Given the description of an element on the screen output the (x, y) to click on. 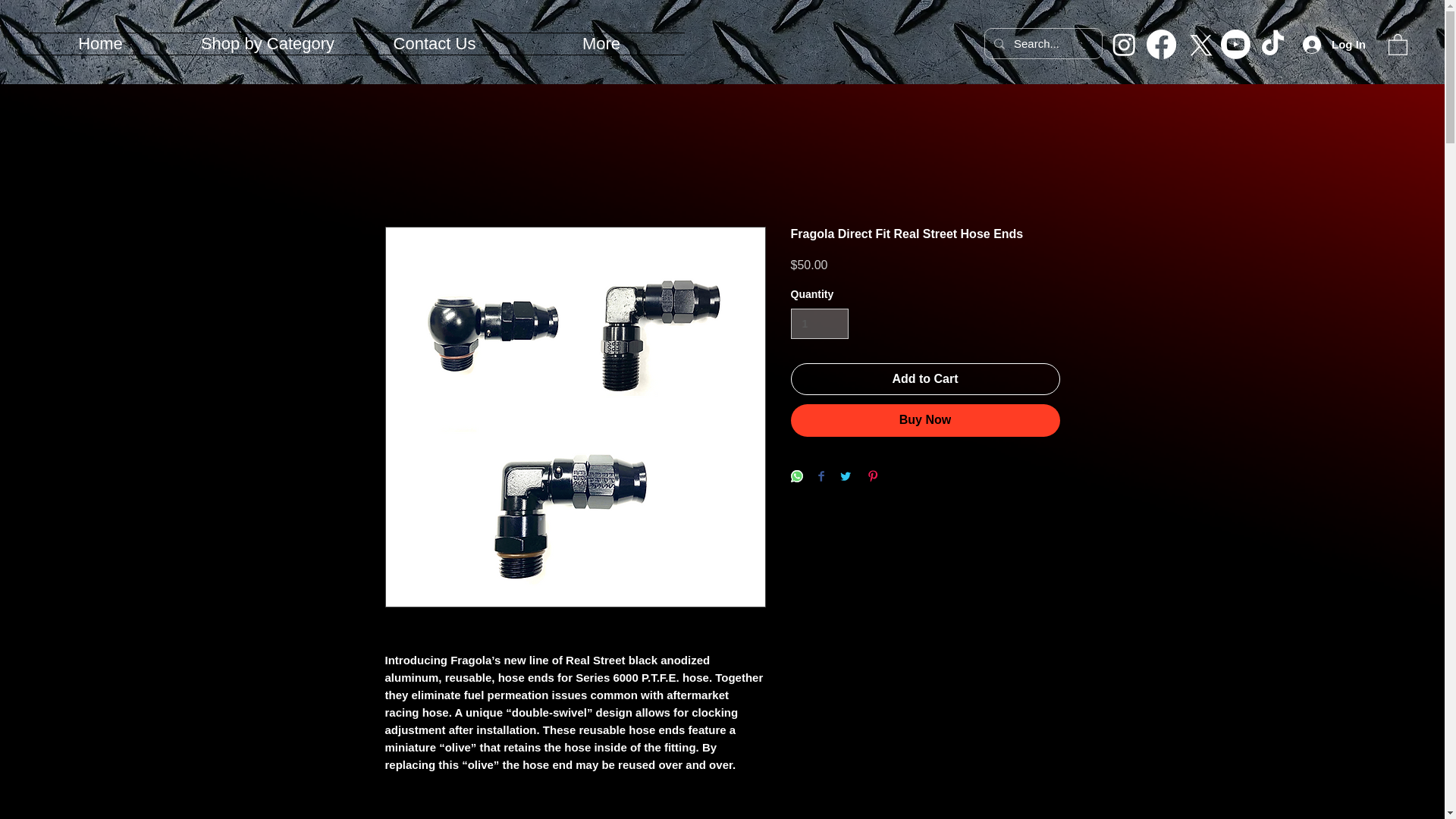
Contact Us (434, 43)
Shop by Category (267, 43)
Add to Cart (924, 378)
1 (818, 323)
Log In (1333, 43)
Home (100, 43)
Buy Now (924, 419)
